Given the description of an element on the screen output the (x, y) to click on. 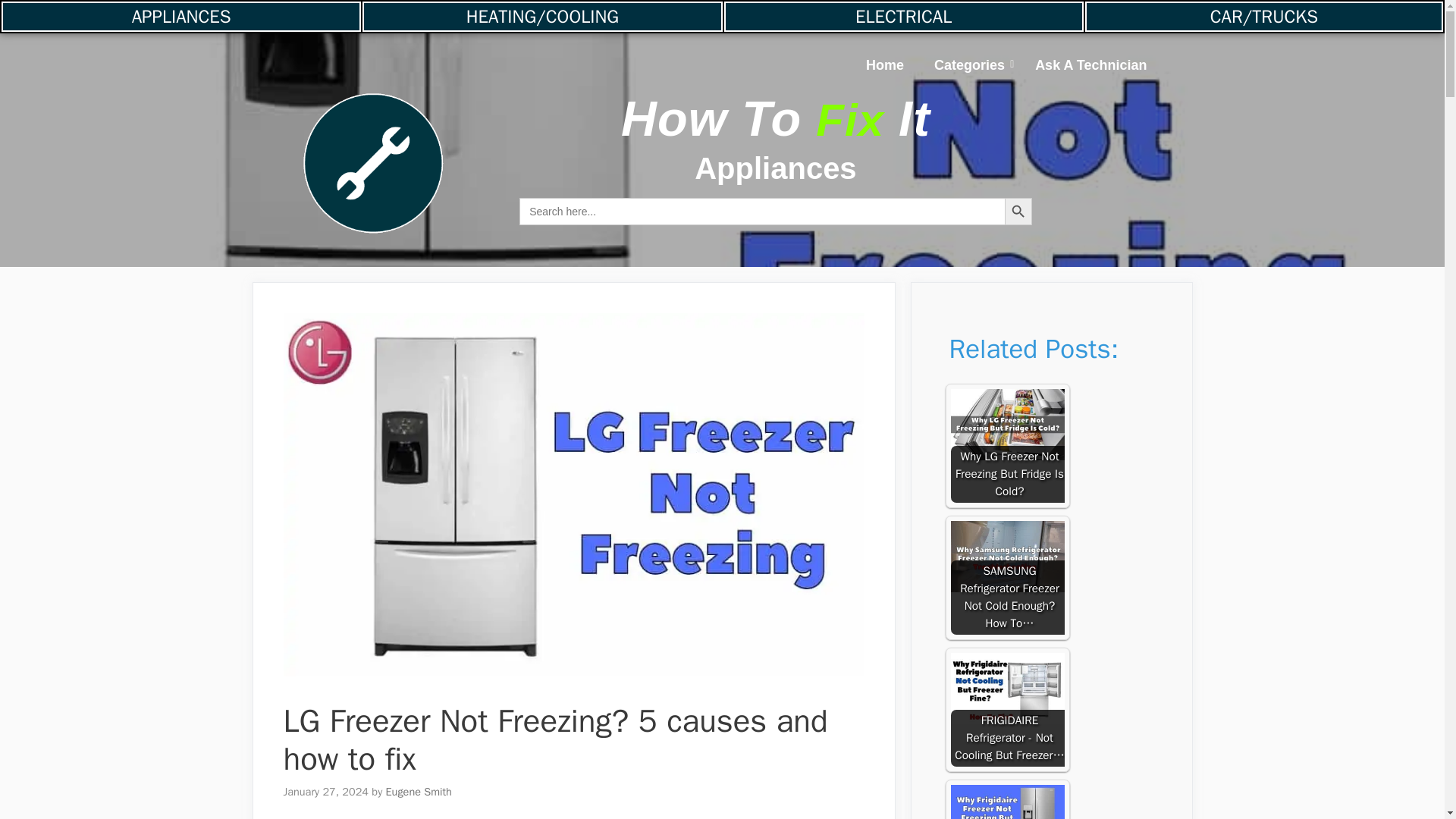
View all posts by Eugene Smith (418, 791)
Home (885, 65)
Categories (968, 65)
APPLIANCES (181, 16)
ELECTRICAL (903, 16)
